Given the description of an element on the screen output the (x, y) to click on. 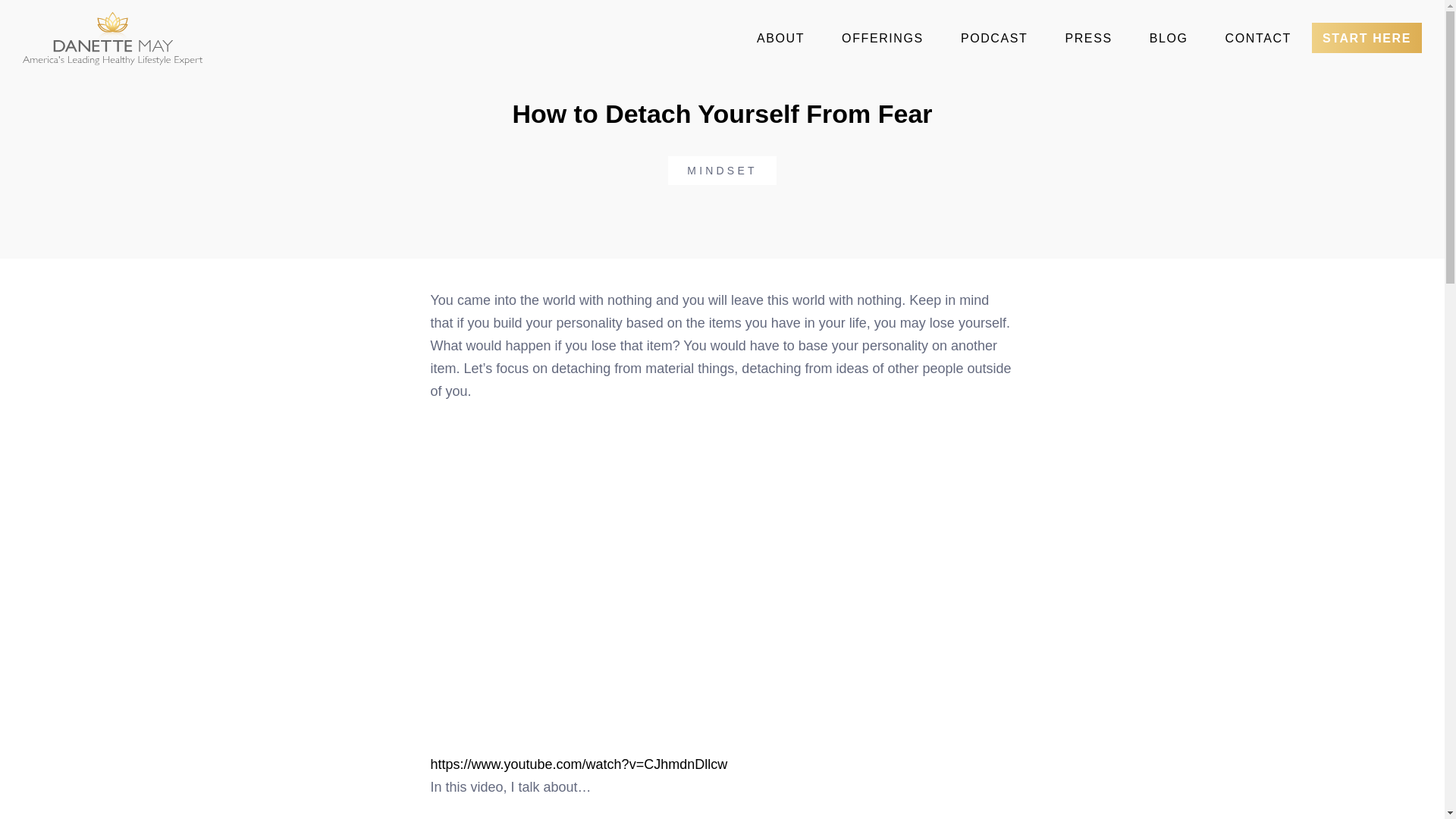
MINDSET (722, 170)
BLOG (1168, 38)
START HERE (1366, 37)
PODCAST (994, 38)
PRESS (1088, 38)
CONTACT (1257, 38)
OFFERINGS (882, 38)
ABOUT (780, 38)
